Given the description of an element on the screen output the (x, y) to click on. 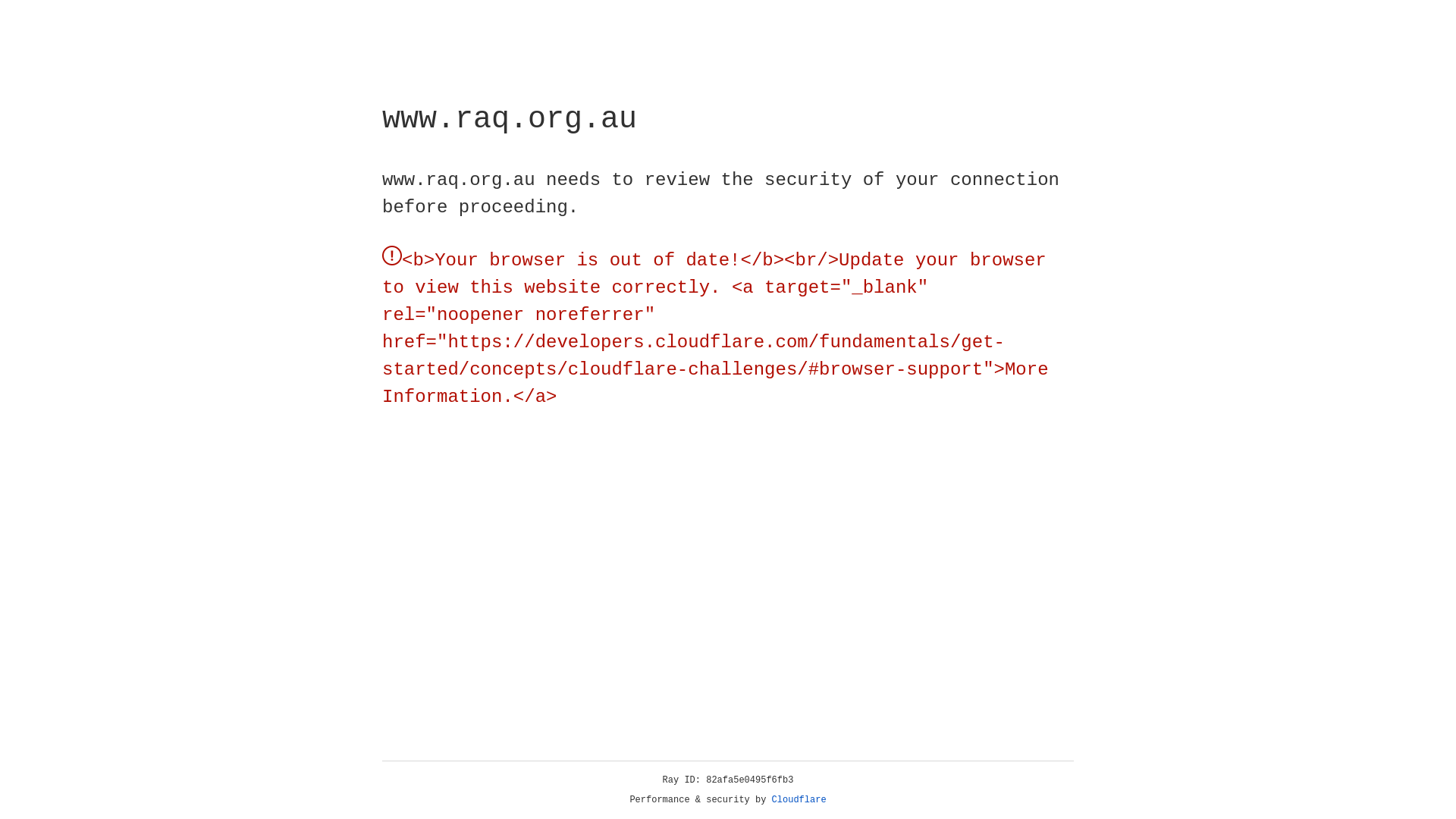
Cloudflare Element type: text (798, 799)
